Given the description of an element on the screen output the (x, y) to click on. 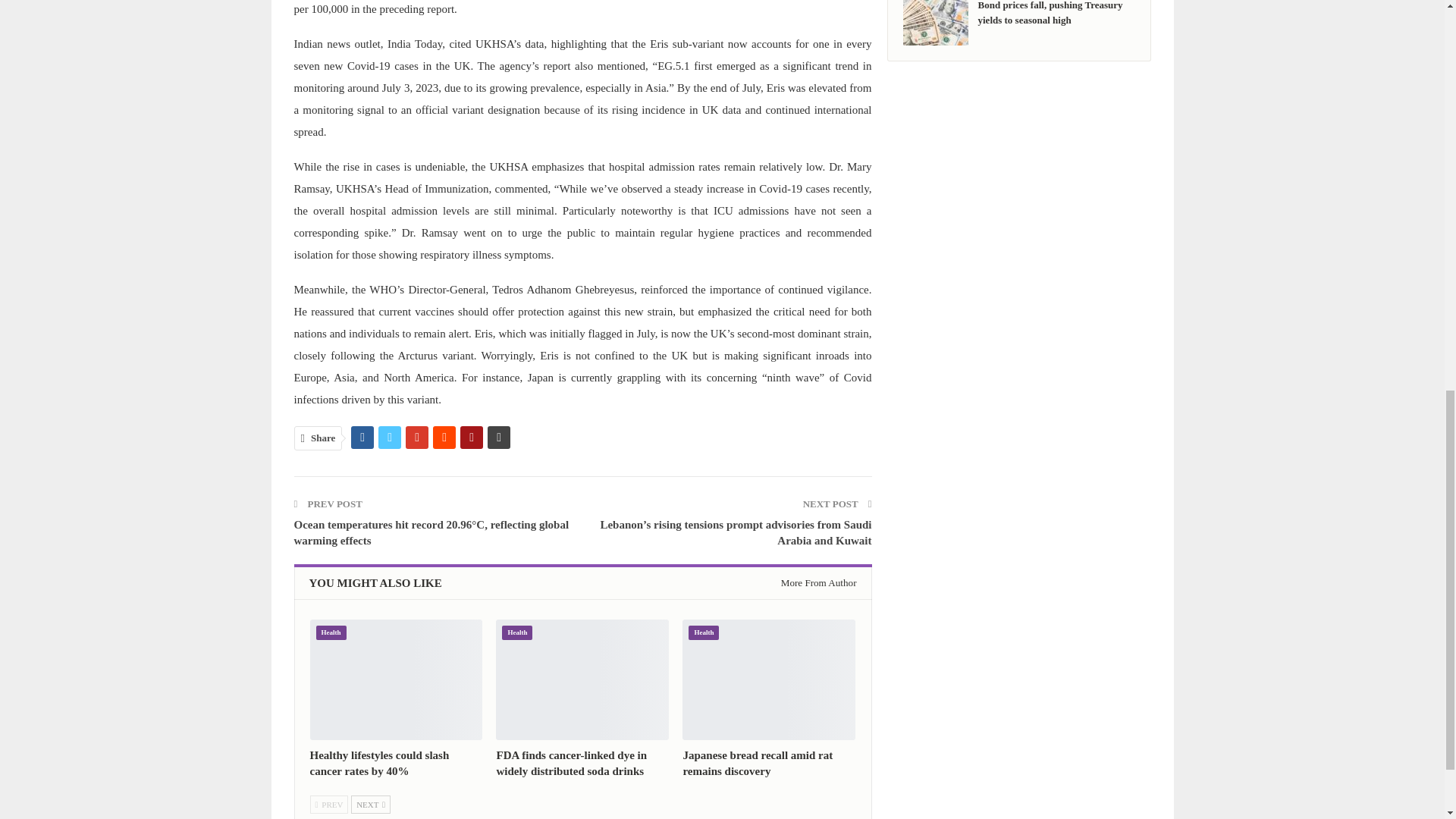
Previous (327, 804)
Japanese bread recall amid rat remains discovery (769, 680)
Japanese bread recall amid rat remains discovery (757, 763)
Next (370, 804)
